Given the description of an element on the screen output the (x, y) to click on. 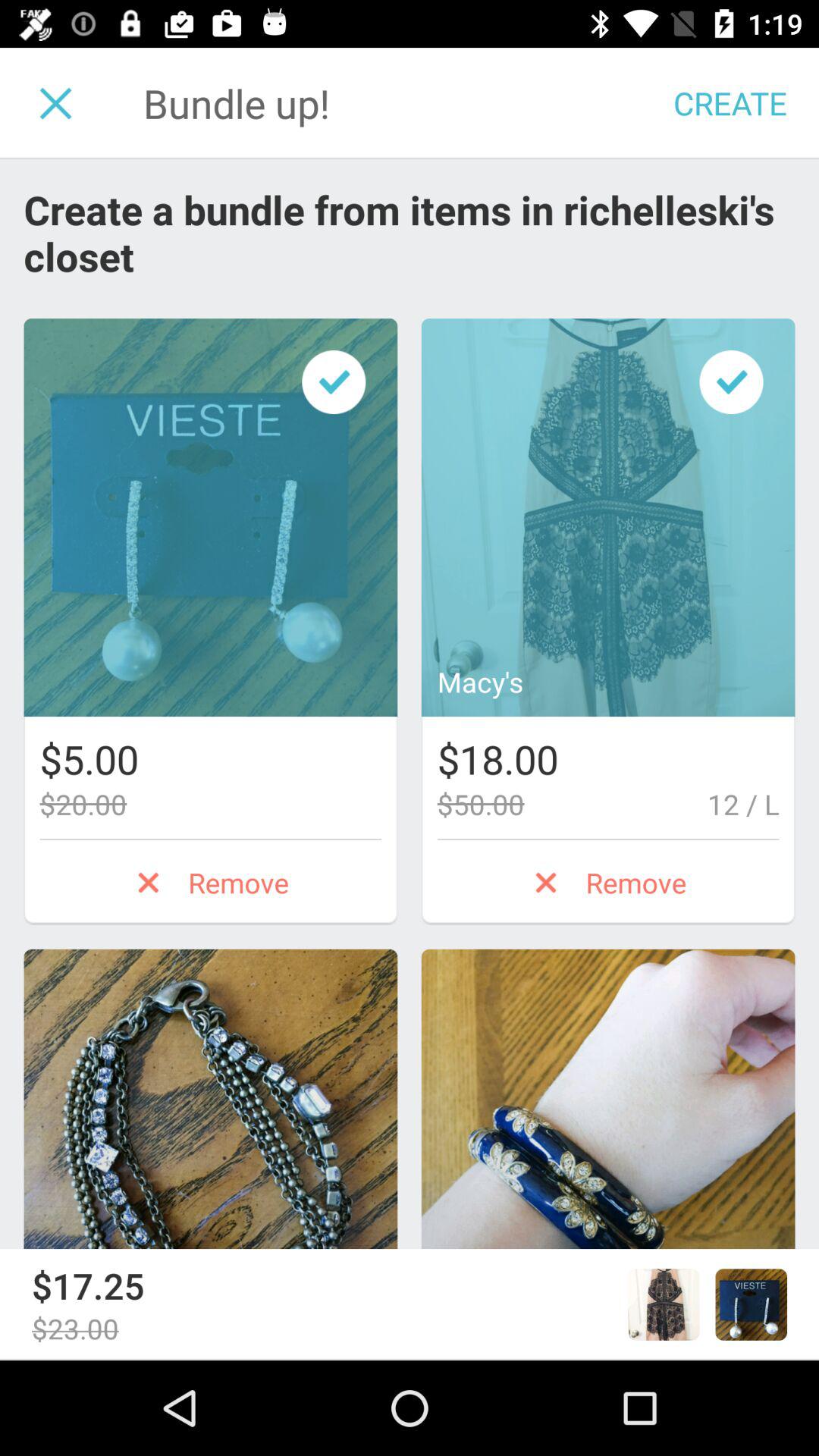
select the first image of the page (210, 517)
click on create which is at top right corner of the page (730, 103)
the image shown right to 1725 at the bottom of the page (664, 1304)
